Given the description of an element on the screen output the (x, y) to click on. 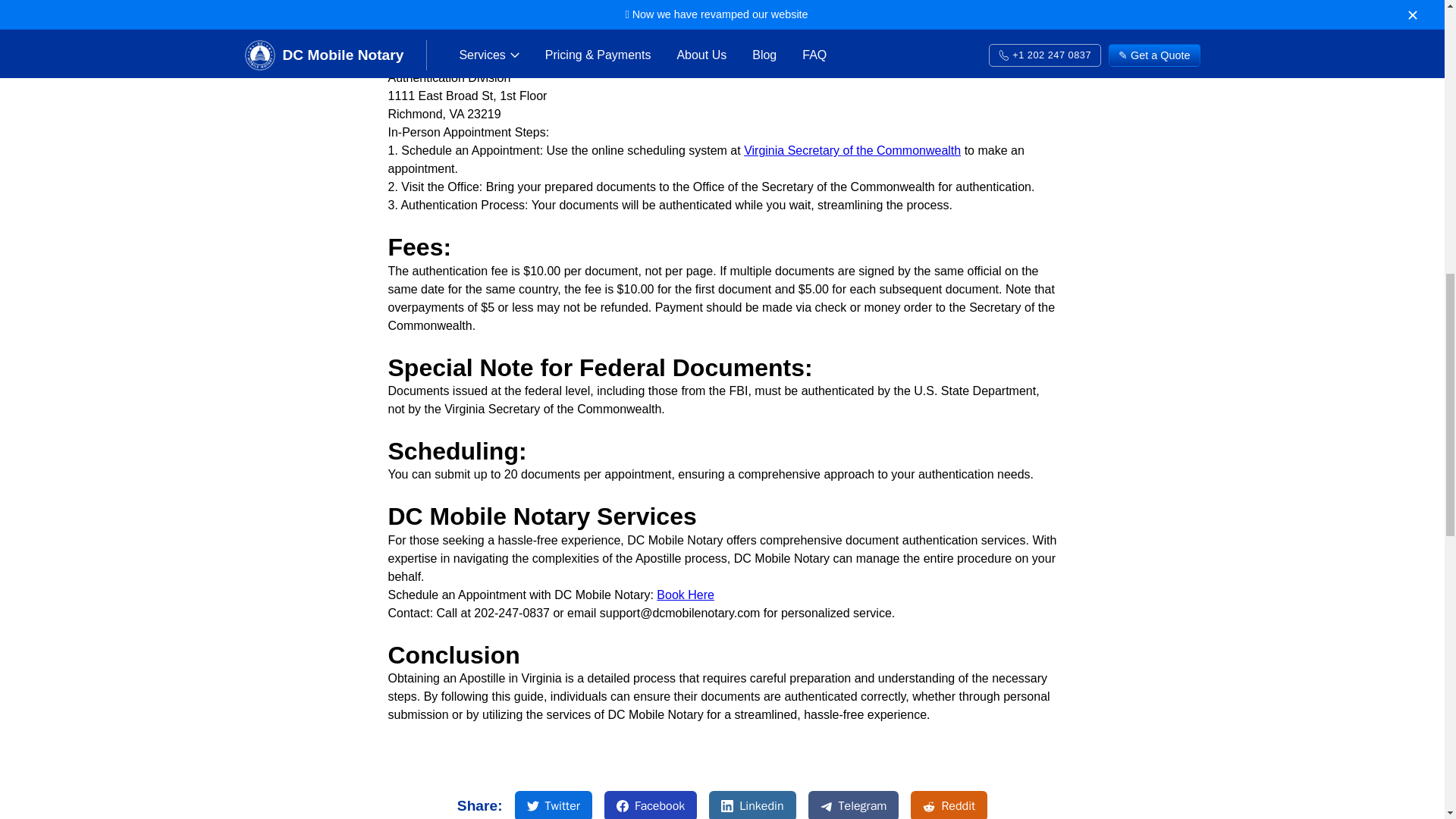
Book Here (685, 594)
Virginia Secretary of the Commonwealth (553, 805)
